Given the description of an element on the screen output the (x, y) to click on. 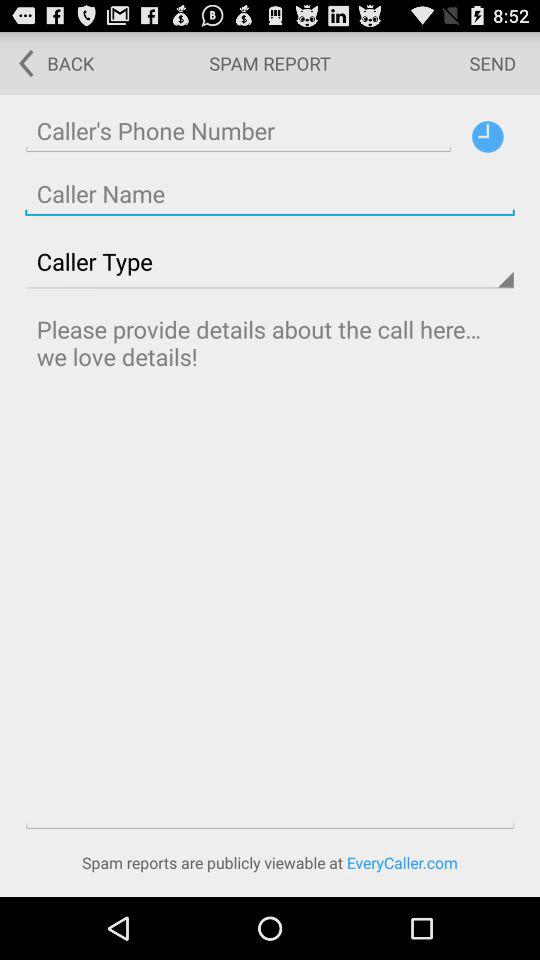
details button (487, 136)
